Given the description of an element on the screen output the (x, y) to click on. 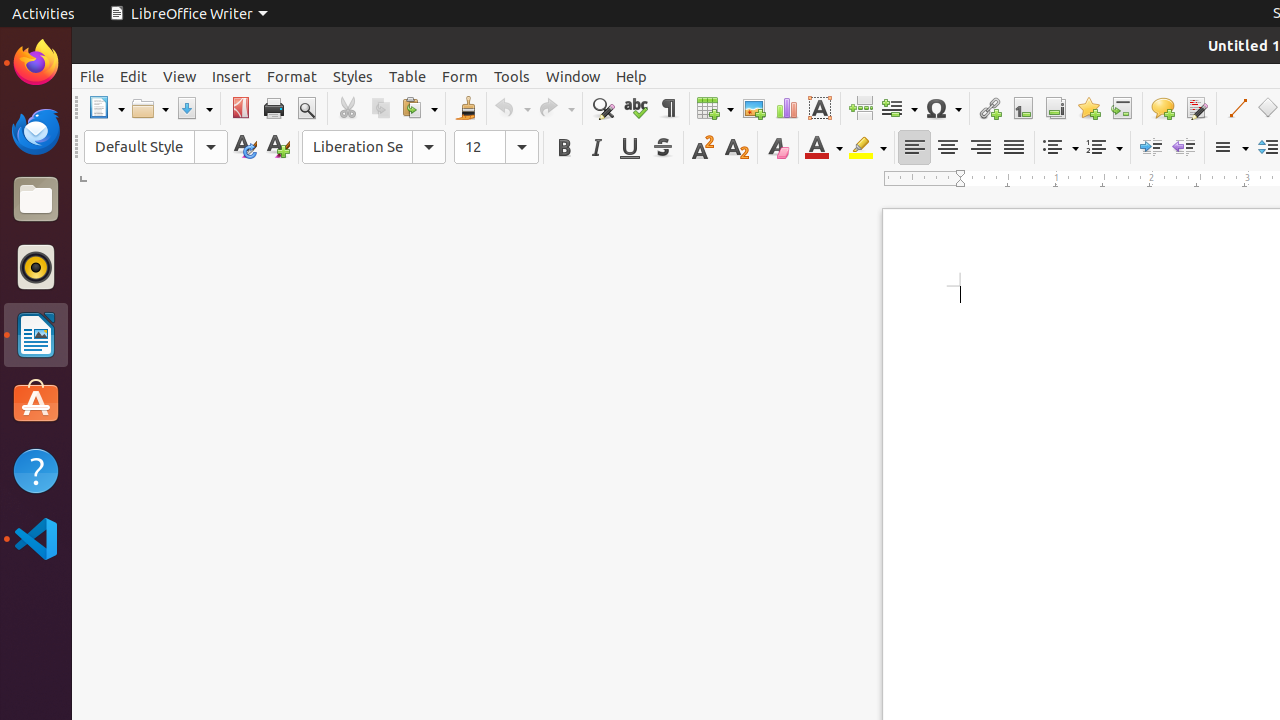
Footnote Element type: push-button (1022, 108)
Paragraph Style Element type: combo-box (156, 147)
Form Element type: menu (460, 76)
Page Break Element type: push-button (860, 108)
Update Element type: push-button (244, 147)
